Given the description of an element on the screen output the (x, y) to click on. 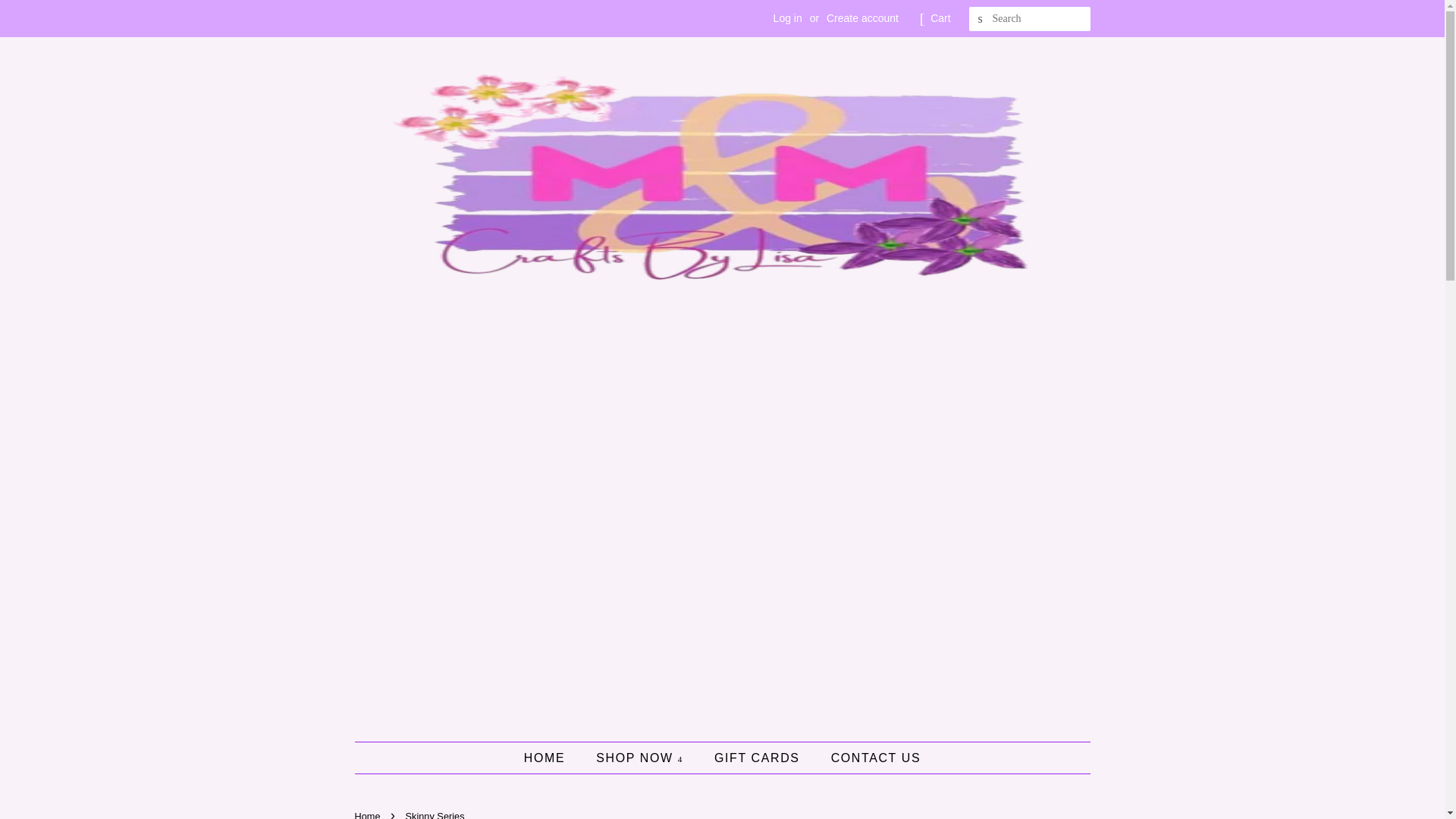
Log in (787, 18)
Create account (862, 18)
Cart (940, 18)
SEARCH (980, 18)
Back to the frontpage (369, 814)
